Given the description of an element on the screen output the (x, y) to click on. 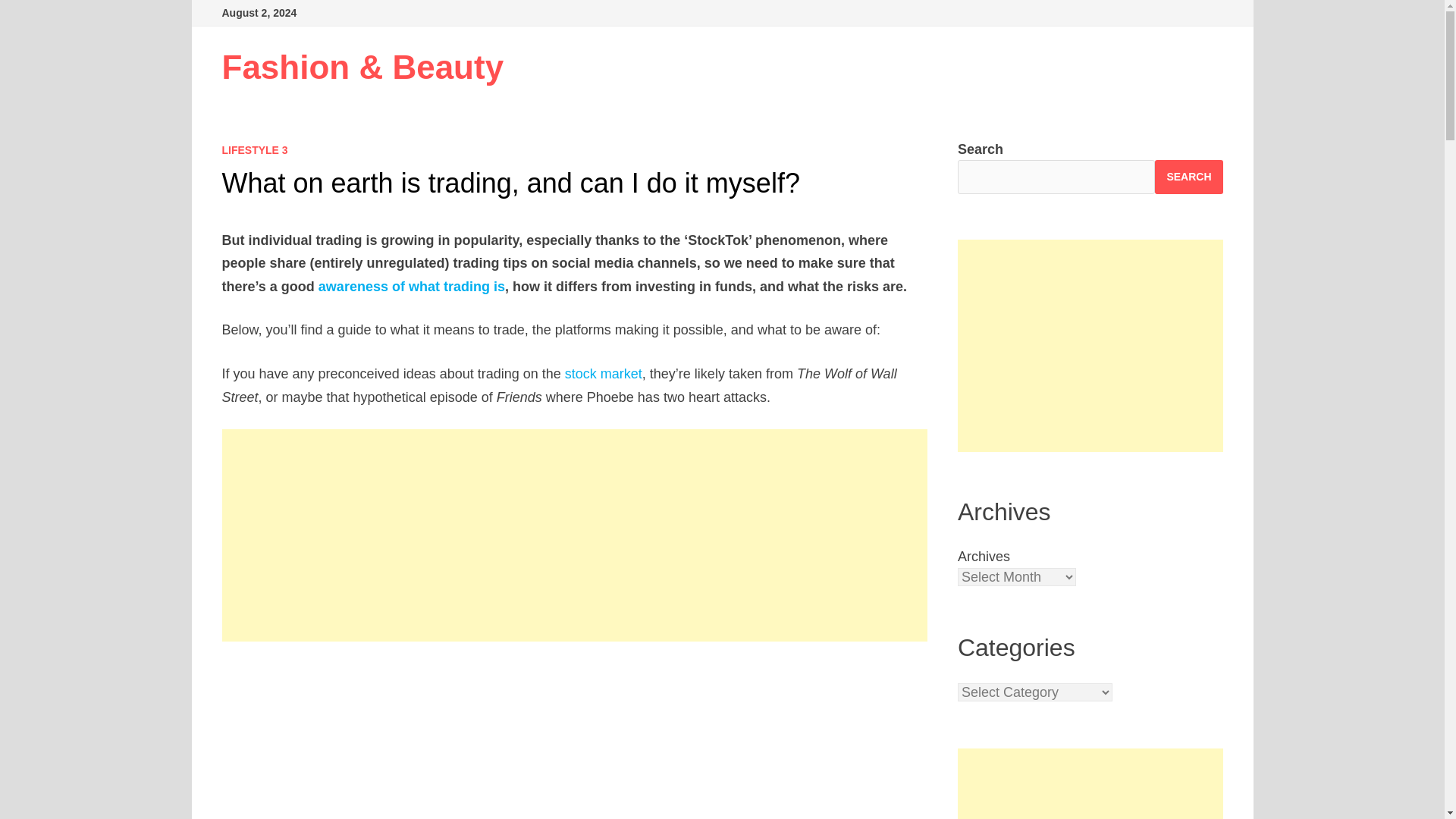
LIFESTYLE 3 (253, 150)
SEARCH (1188, 176)
Advertisement (1090, 783)
Advertisement (1090, 345)
Advertisement (574, 740)
awareness of what trading is (411, 286)
stock market (603, 373)
